Given the description of an element on the screen output the (x, y) to click on. 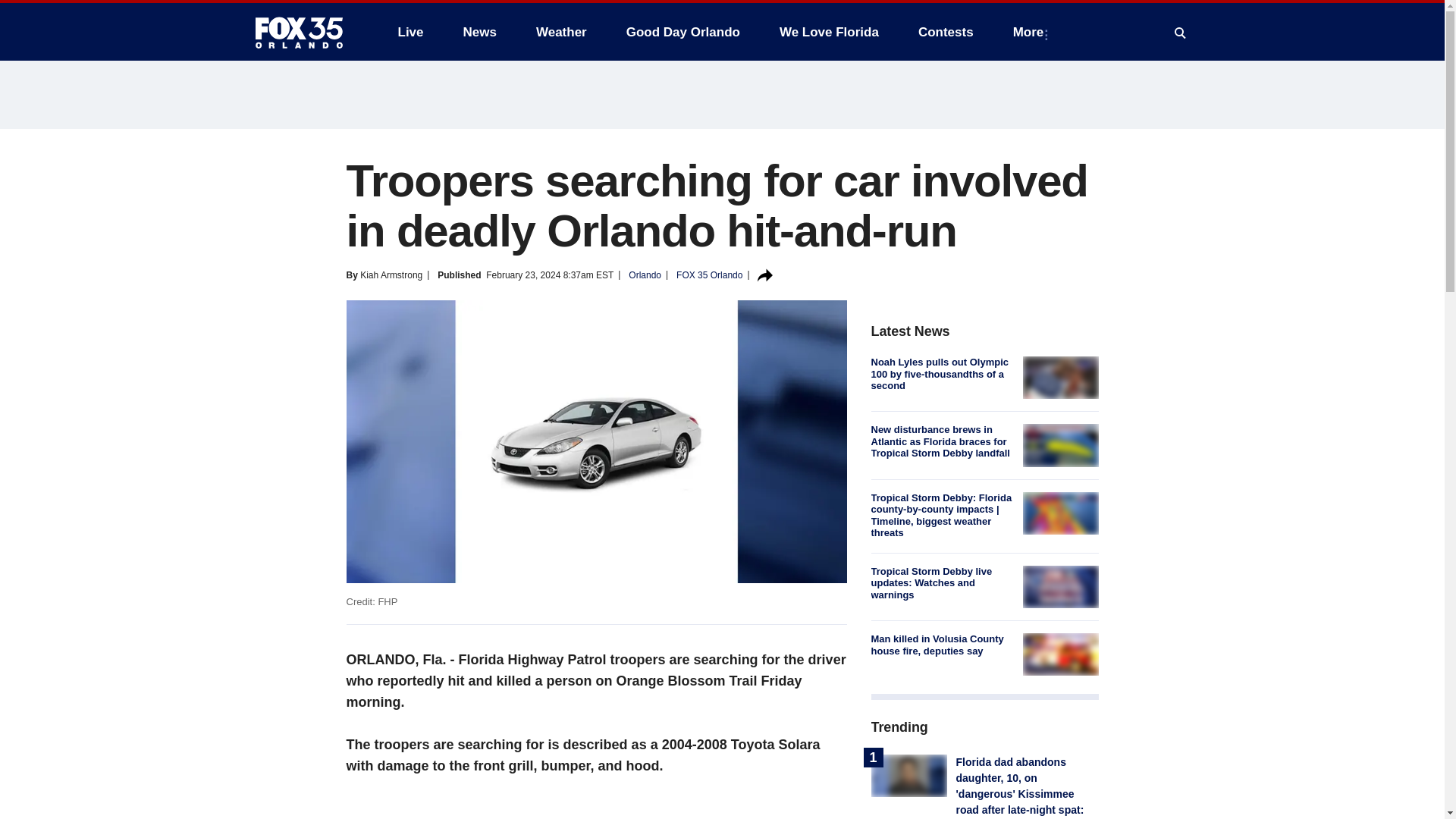
News (479, 32)
Weather (561, 32)
We Love Florida (829, 32)
More (1031, 32)
Contests (945, 32)
Live (410, 32)
Good Day Orlando (683, 32)
